Given the description of an element on the screen output the (x, y) to click on. 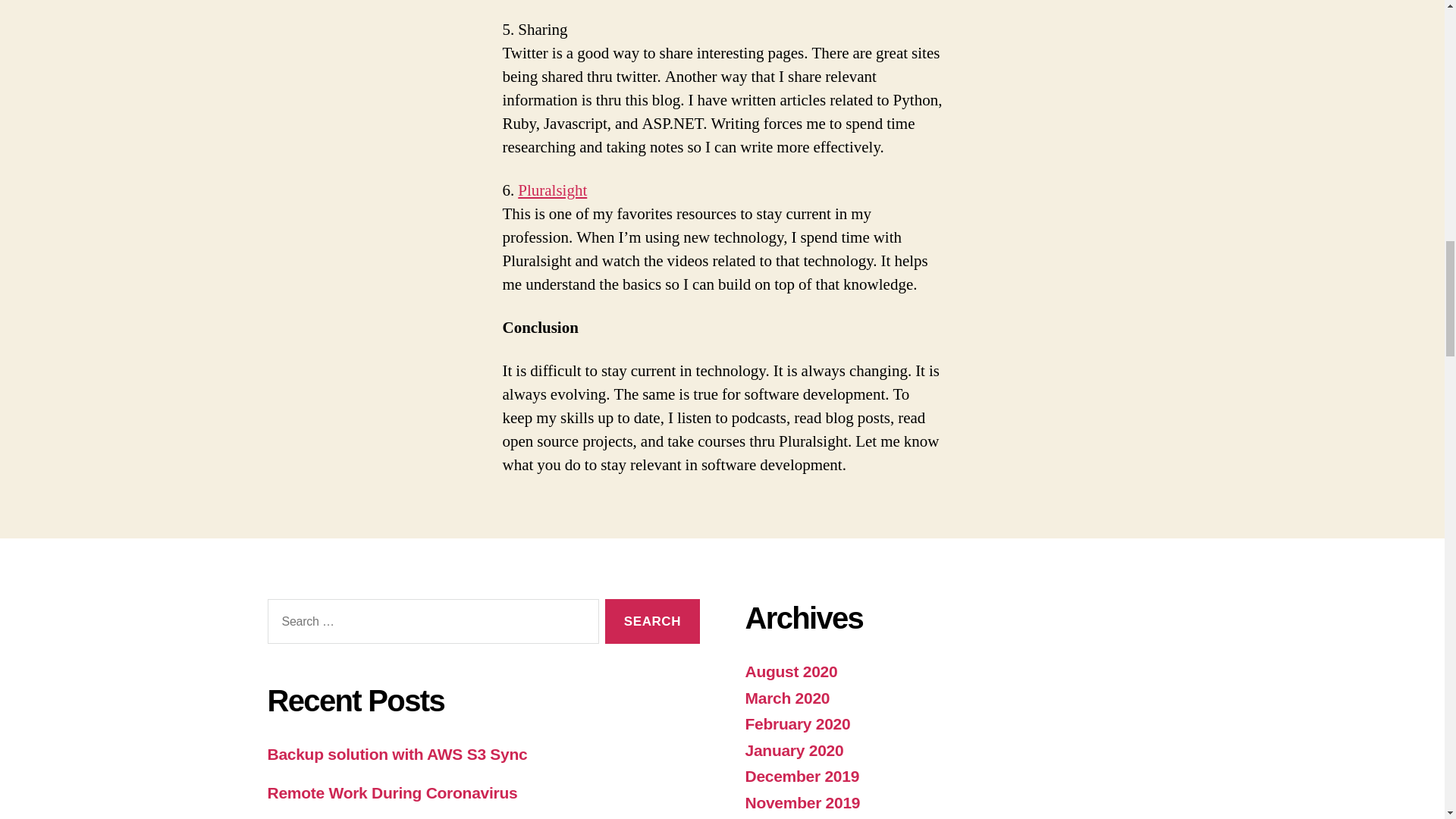
Search (651, 620)
Backup solution with AWS S3 Sync (396, 753)
Search (651, 620)
Search (651, 620)
Pluralsight (552, 190)
Remote Work During Coronavirus (391, 792)
